Given the description of an element on the screen output the (x, y) to click on. 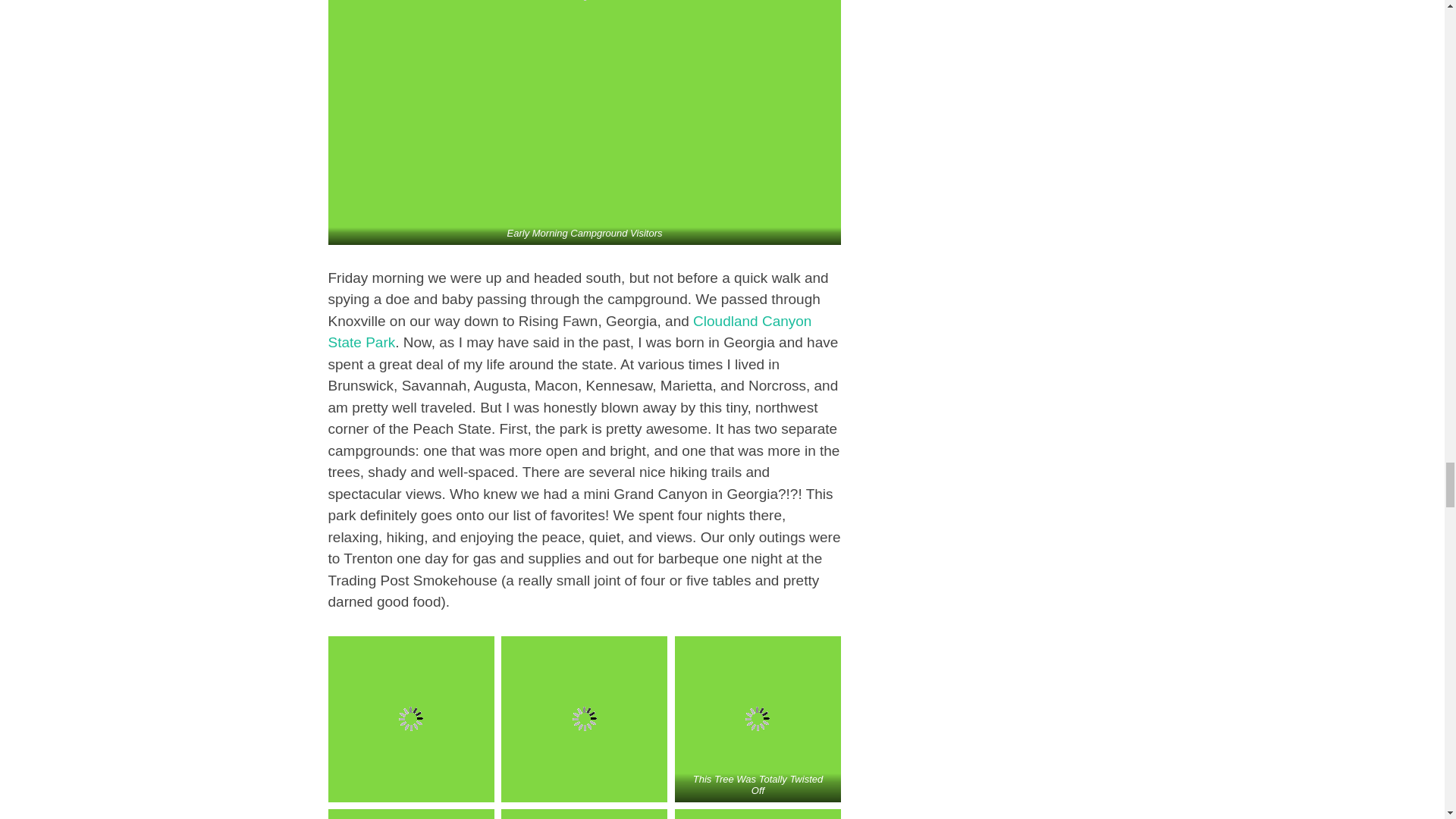
Cloudland Canyon State Park (568, 331)
